Given the description of an element on the screen output the (x, y) to click on. 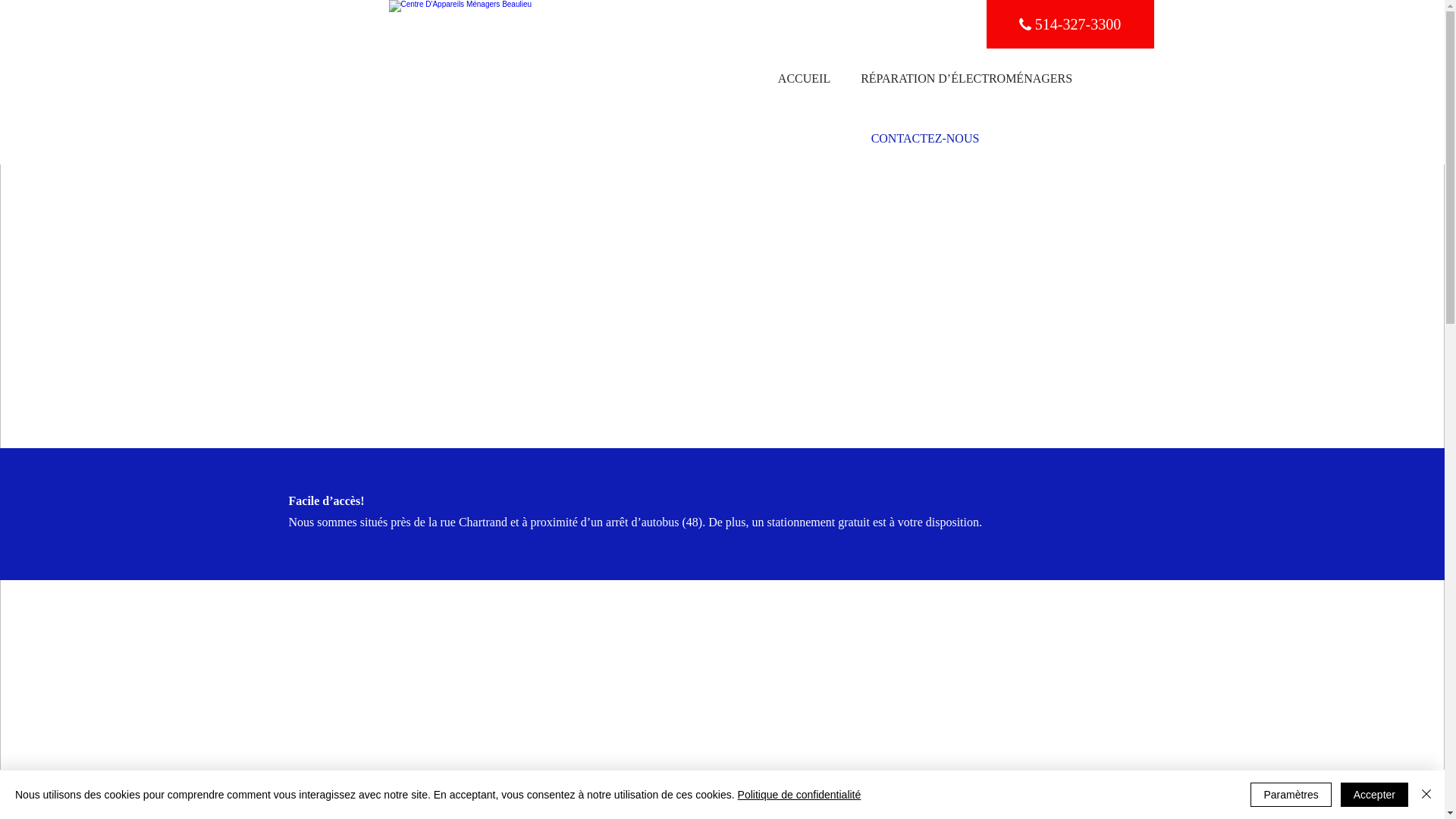
Accepter Element type: text (1374, 794)
514-327-3300 Element type: text (1069, 24)
Google Maps Element type: hover (722, 674)
ACCUEIL Element type: text (803, 78)
CONTACTEZ-NOUS Element type: text (925, 138)
